Given the description of an element on the screen output the (x, y) to click on. 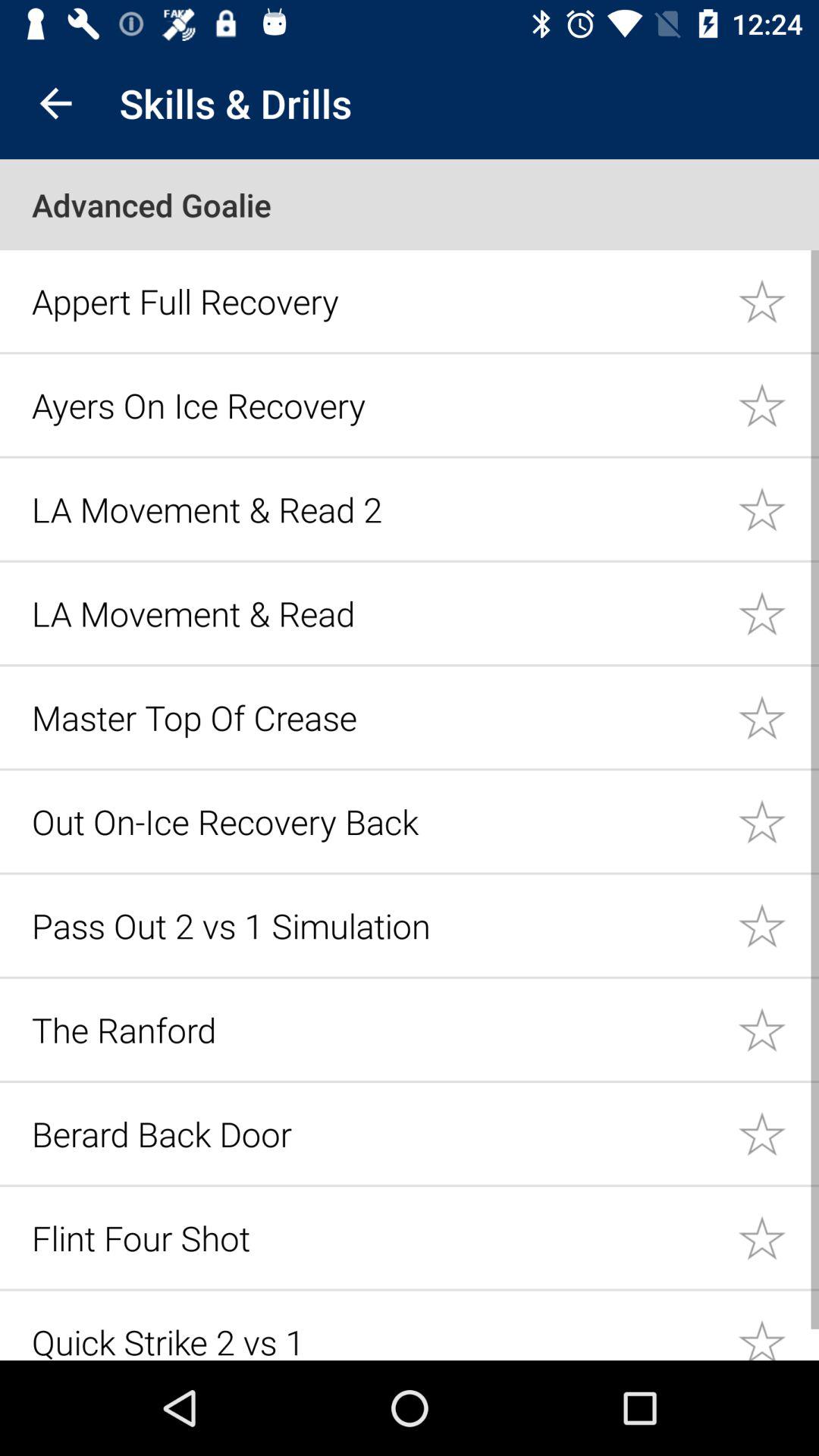
likes (778, 404)
